Given the description of an element on the screen output the (x, y) to click on. 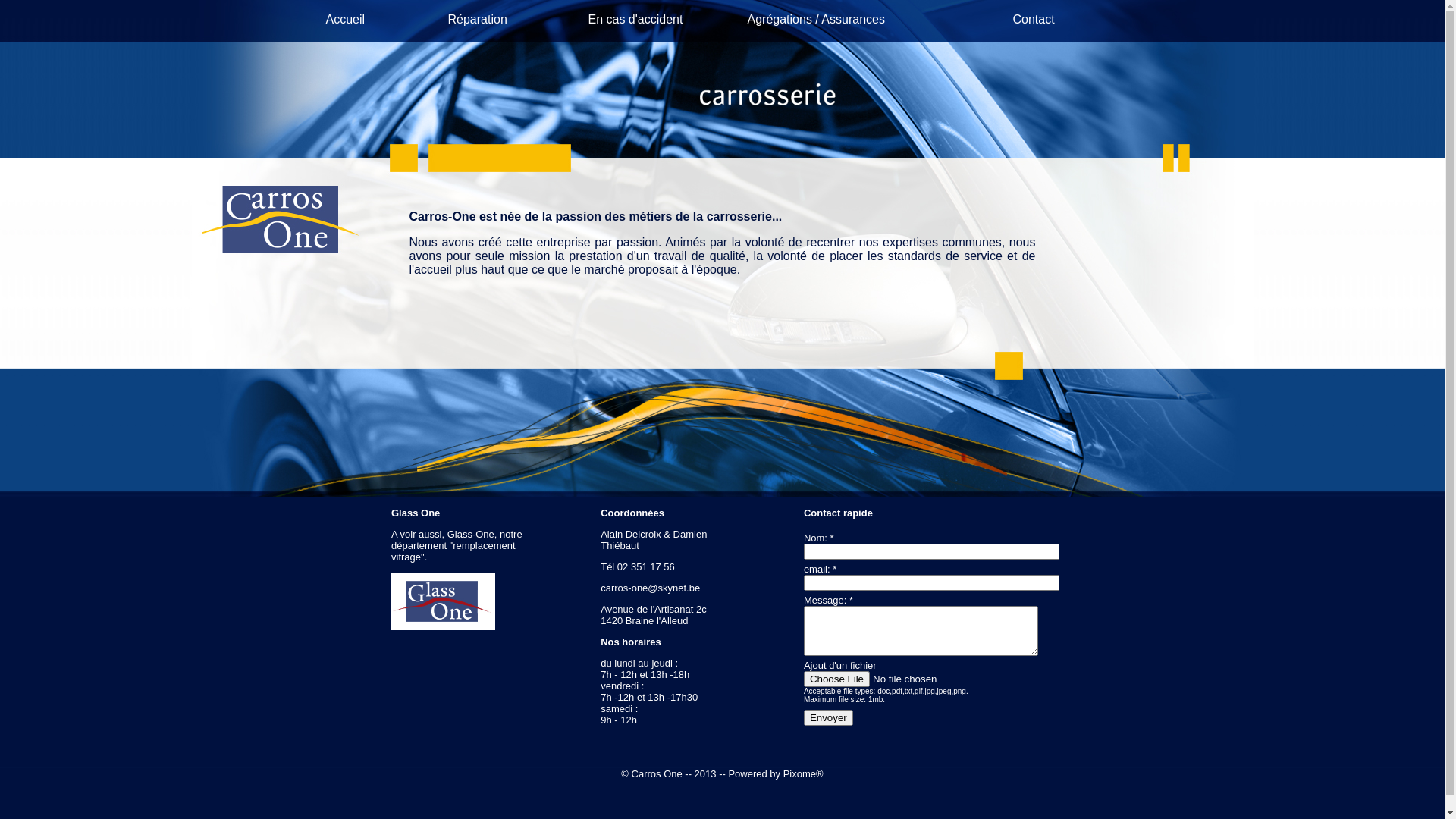
Contact Element type: text (1033, 18)
En cas d'accident Element type: text (635, 18)
Pixome Element type: text (799, 773)
Accueil Element type: text (345, 18)
Envoyer Element type: text (828, 717)
